Given the description of an element on the screen output the (x, y) to click on. 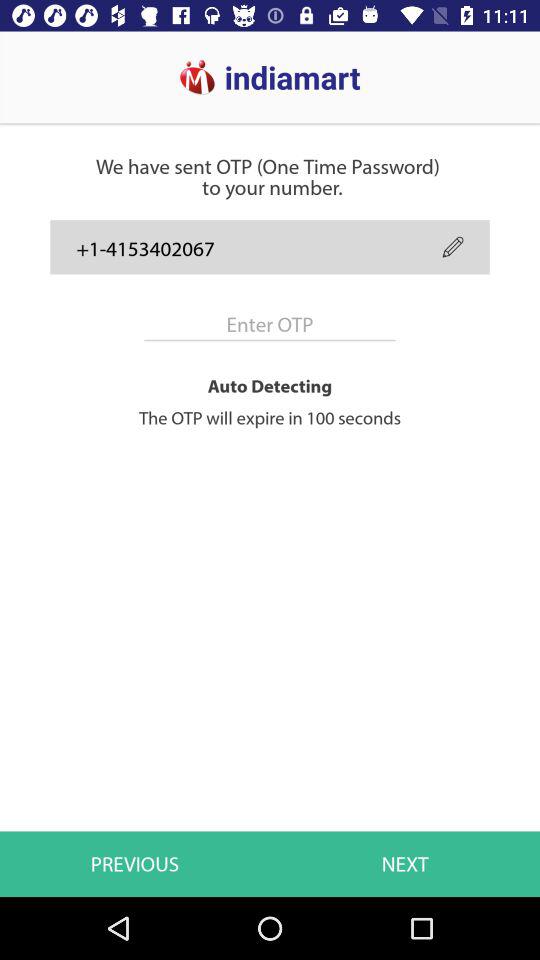
enter one time password (269, 324)
